Given the description of an element on the screen output the (x, y) to click on. 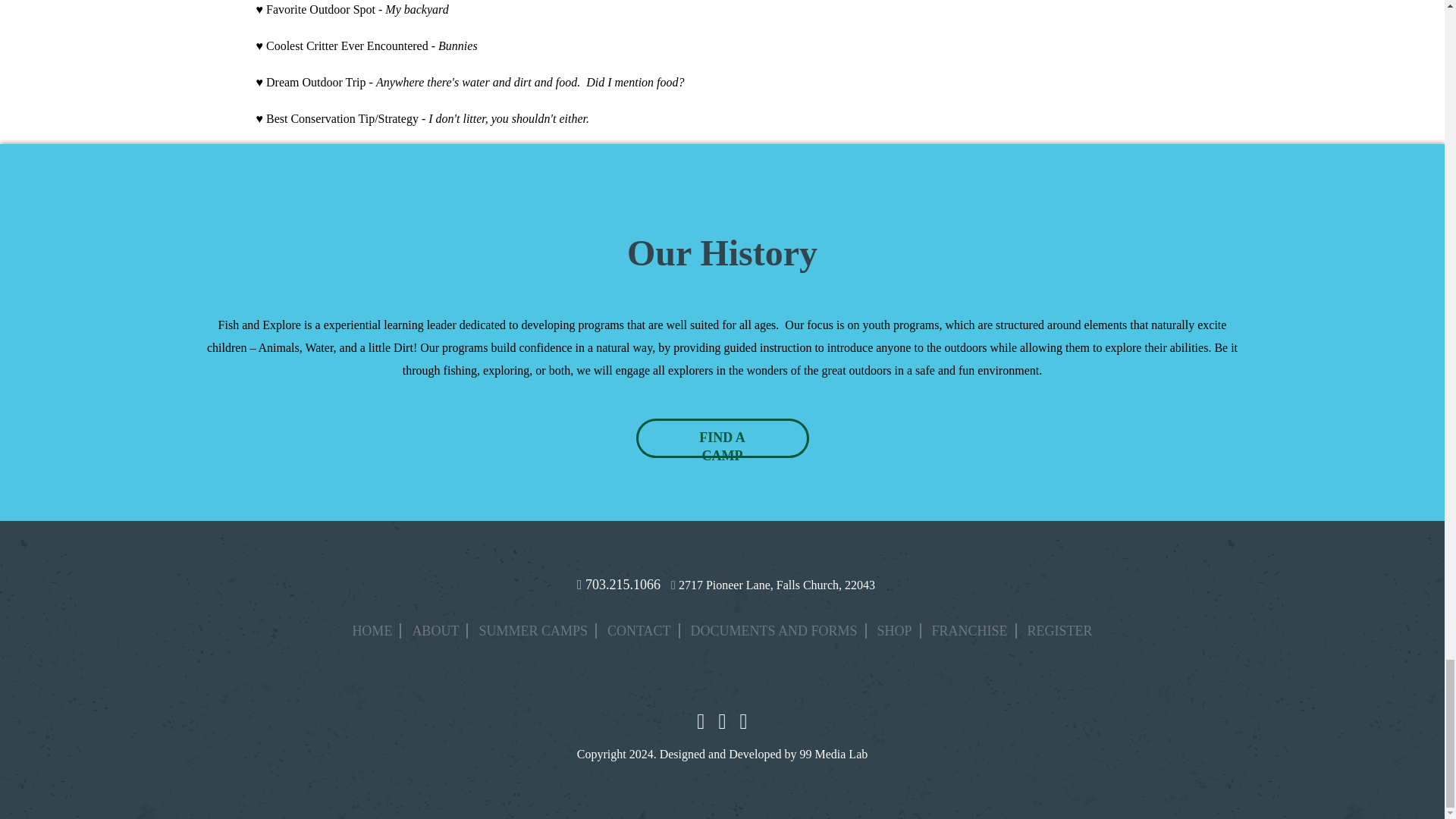
SHOP (895, 630)
FRANCHISE (970, 630)
DOCUMENTS AND FORMS (774, 630)
ABOUT (435, 630)
FIND A CAMP (721, 437)
REGISTER (1060, 630)
HOME (372, 630)
703.215.1066 (618, 584)
CONTACT (639, 630)
SUMMER CAMPS (533, 630)
